Given the description of an element on the screen output the (x, y) to click on. 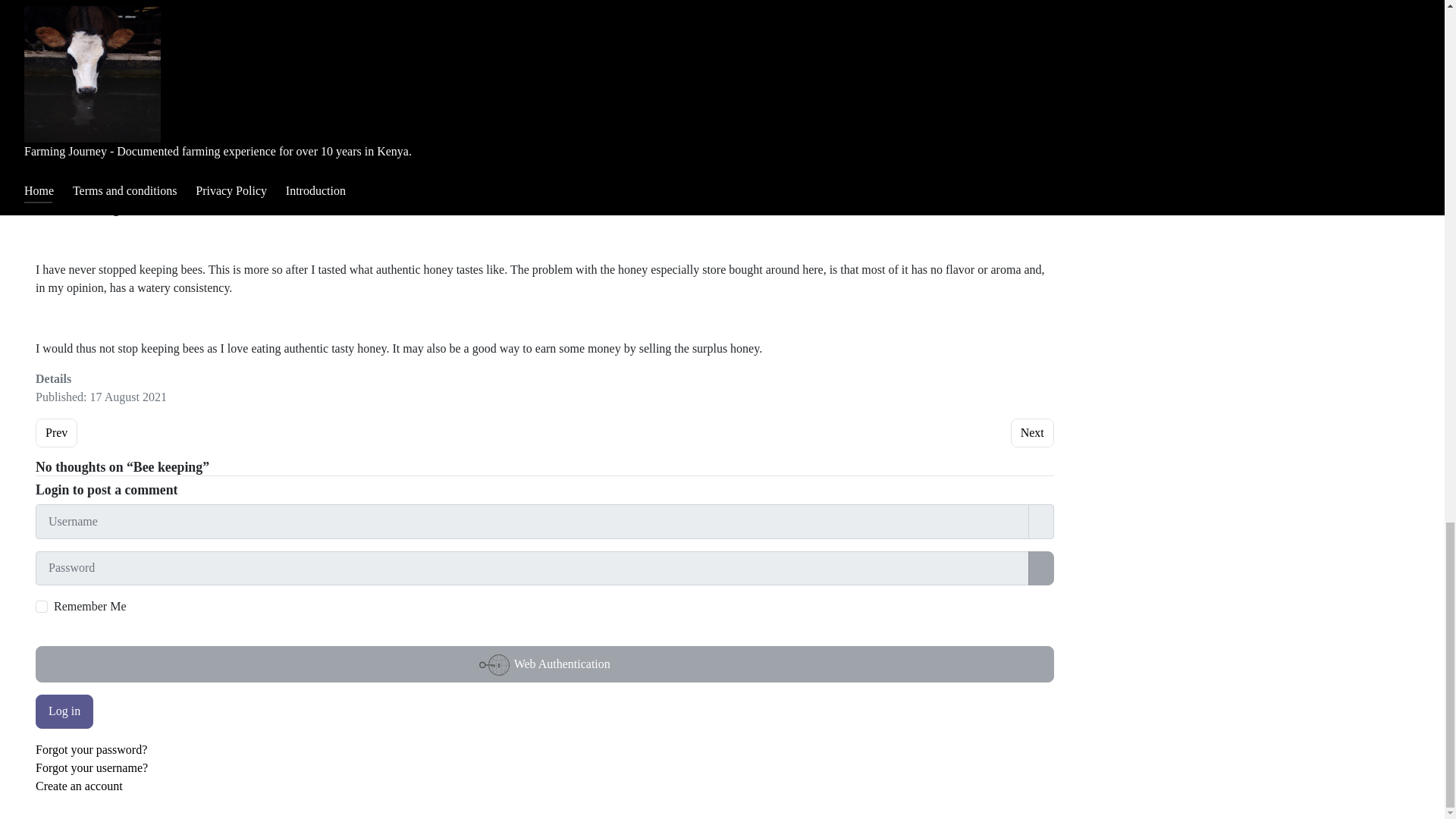
Create an account (78, 785)
Web Authentication (544, 664)
Web Authentication (544, 664)
Log in (63, 711)
Forgot your username? (91, 767)
yes (1032, 432)
Forgot your password? (41, 606)
